Given the description of an element on the screen output the (x, y) to click on. 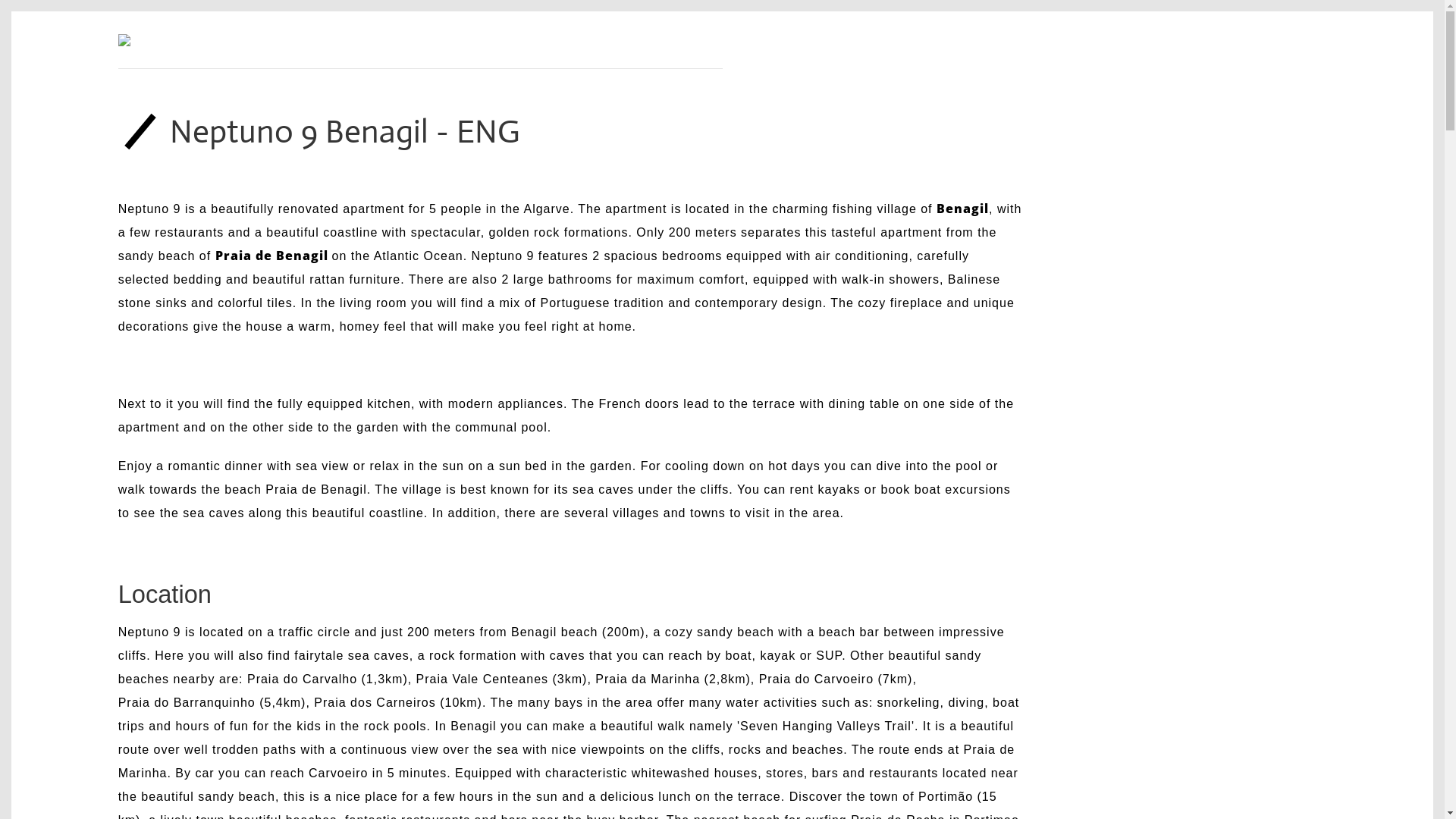
Praia de Benagil Element type: text (271, 255)
Praia do Carvoeiro Element type: text (816, 678)
Praia da Marinha Element type: text (647, 678)
Benagil beach  Element type: text (556, 631)
Praia Vale Centeanes Element type: text (482, 678)
Atelier P Element type: hover (239, 40)
Seven Hanging Valleys Trail Element type: text (825, 725)
Praia do Carvalho Element type: text (302, 678)
Praia do Barranquinho  Element type: text (189, 702)
Praia dos Carneiros Element type: text (374, 702)
Benagil Element type: text (962, 208)
